Given the description of an element on the screen output the (x, y) to click on. 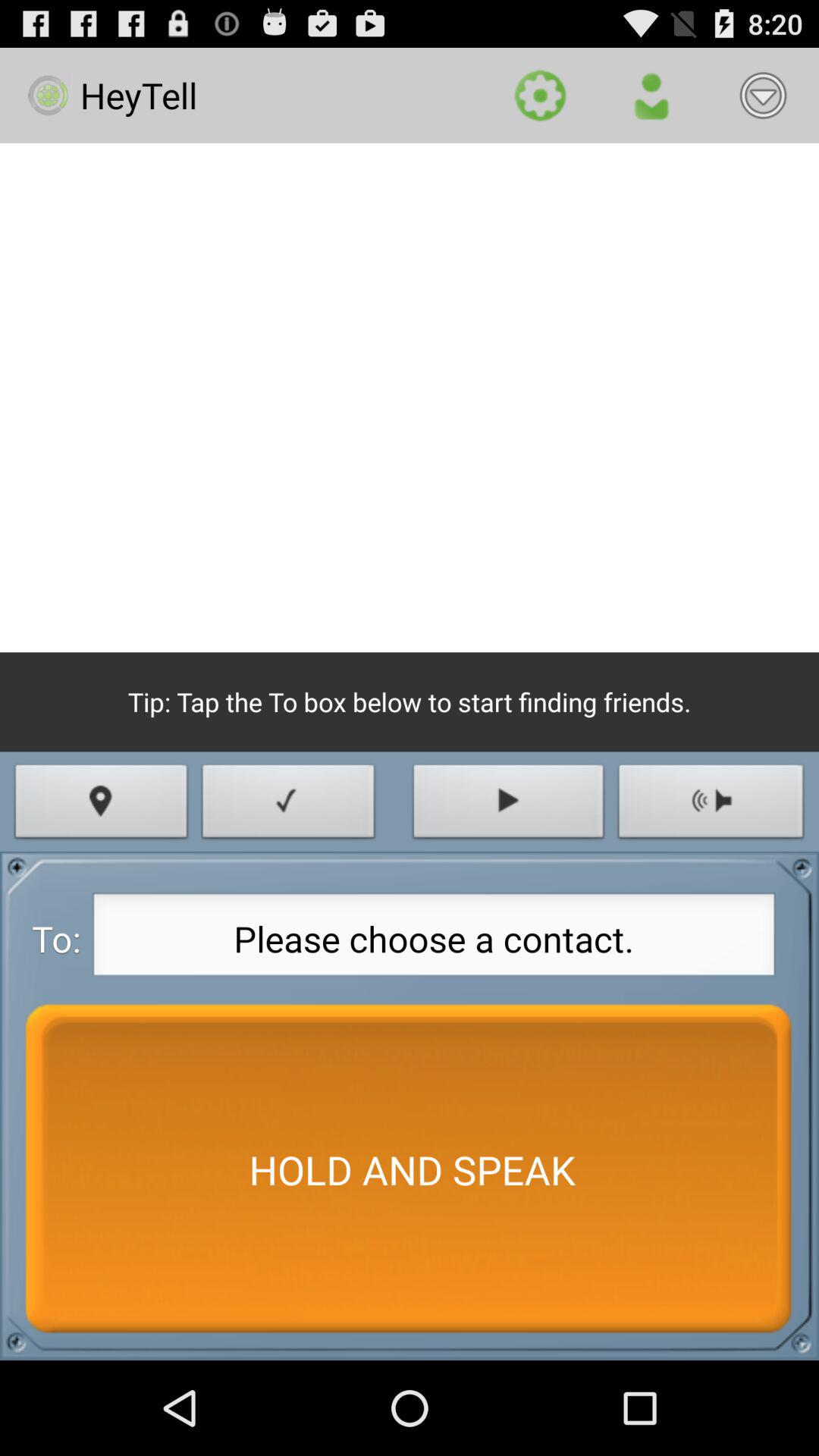
press the item below the tip tap the icon (101, 805)
